Given the description of an element on the screen output the (x, y) to click on. 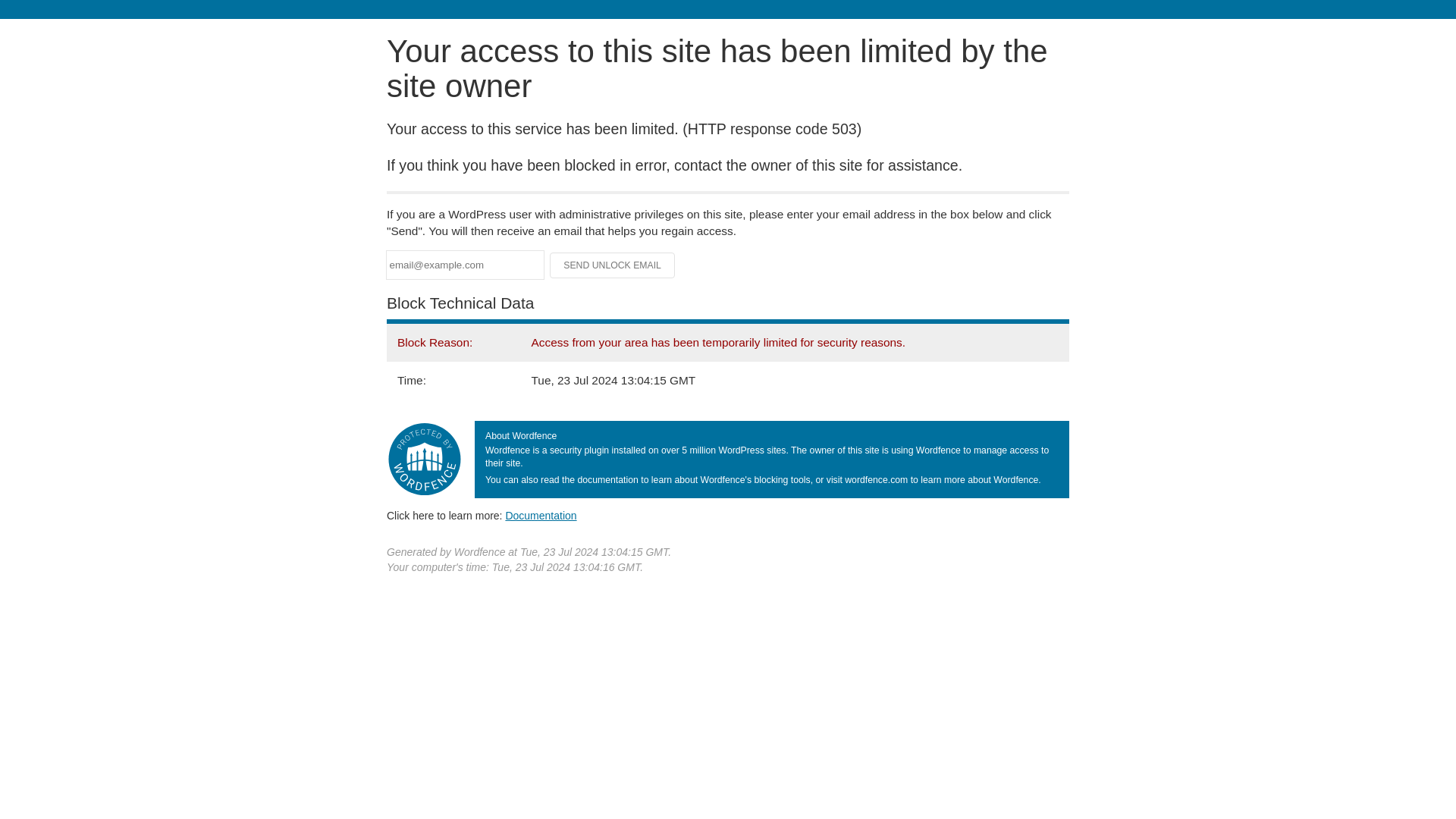
Send Unlock Email (612, 265)
Send Unlock Email (612, 265)
Documentation (540, 515)
